Given the description of an element on the screen output the (x, y) to click on. 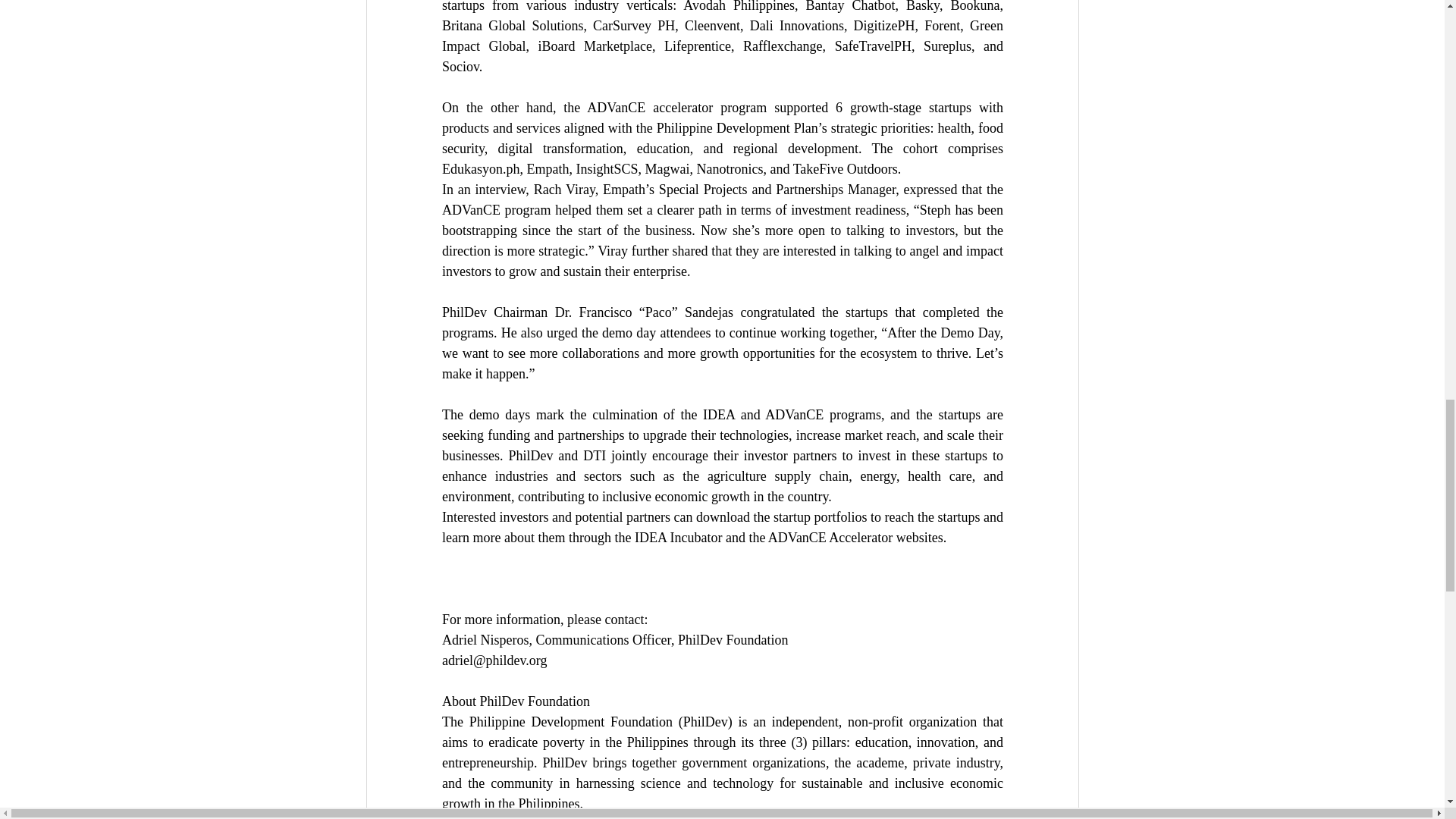
www.phildev.org  (541, 817)
